Given the description of an element on the screen output the (x, y) to click on. 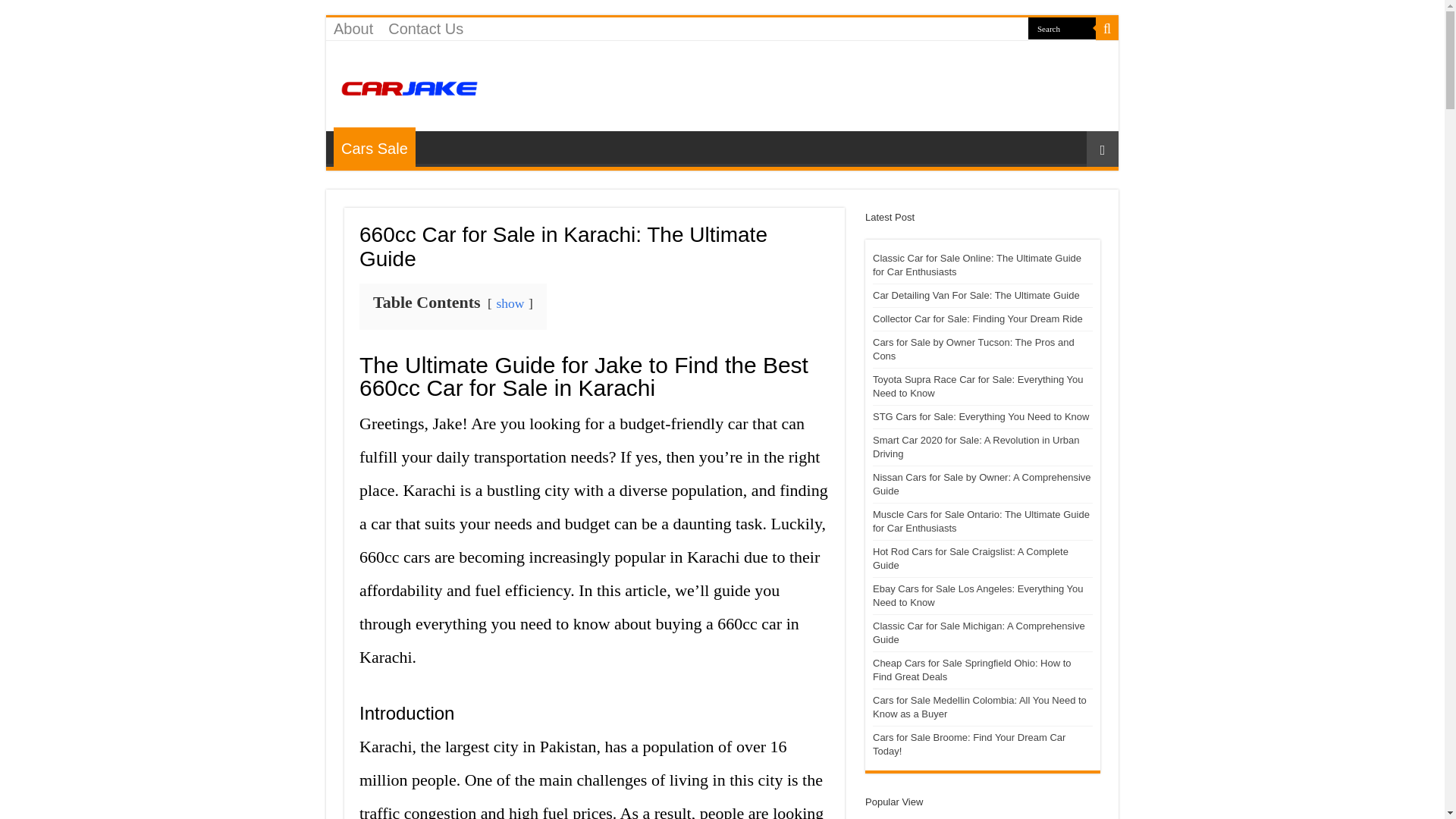
show (510, 303)
Search (1061, 28)
Car Jake (409, 85)
Contact Us (425, 28)
Search (1061, 28)
Cars Sale (373, 147)
About (353, 28)
Search (1061, 28)
Search (1107, 28)
Random Article (1102, 149)
